Given the description of an element on the screen output the (x, y) to click on. 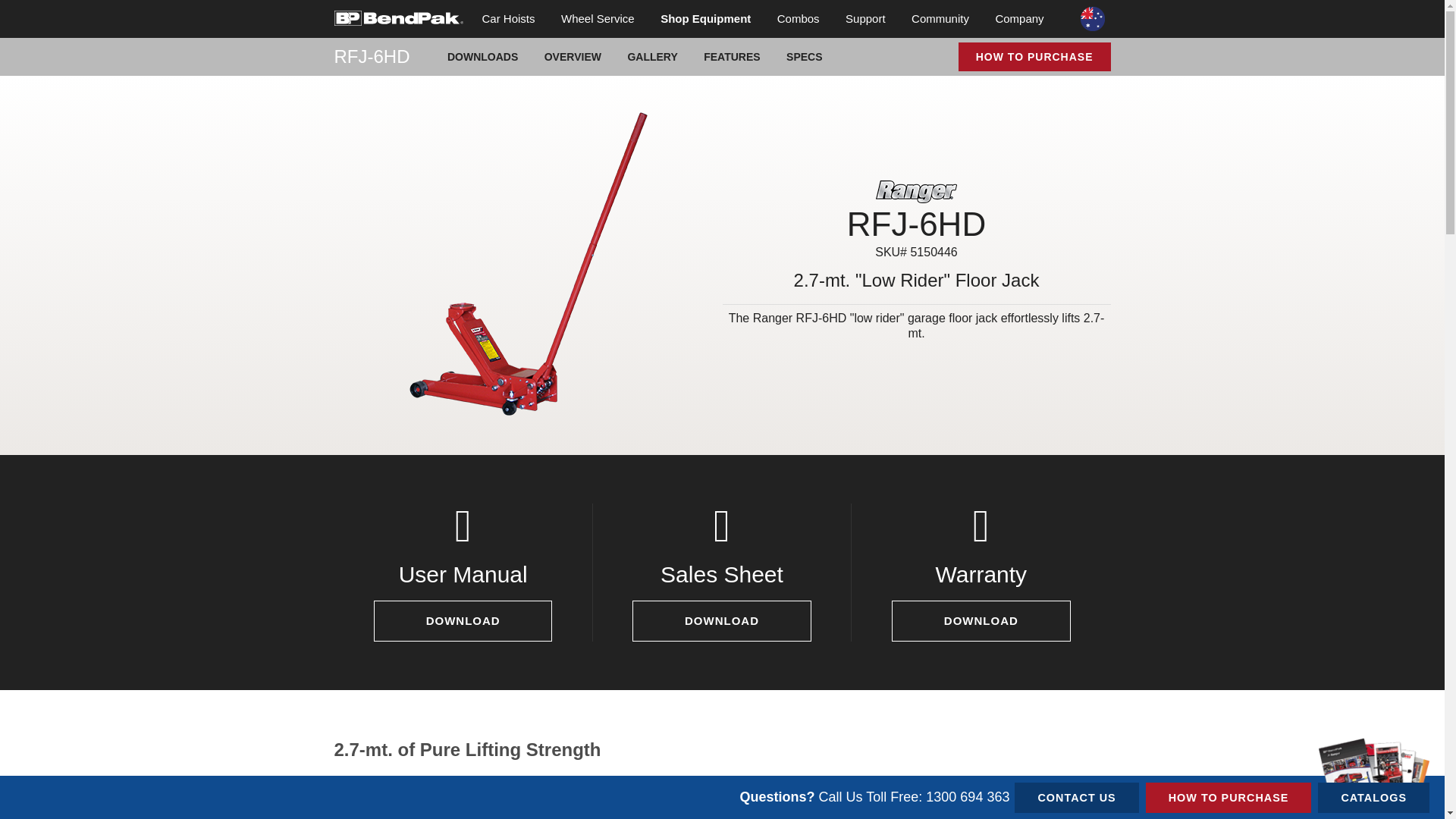
Wheel Service (598, 18)
on (338, 4)
BendPak (398, 17)
Shop Equipment (705, 18)
Car Hoists (508, 18)
